Given the description of an element on the screen output the (x, y) to click on. 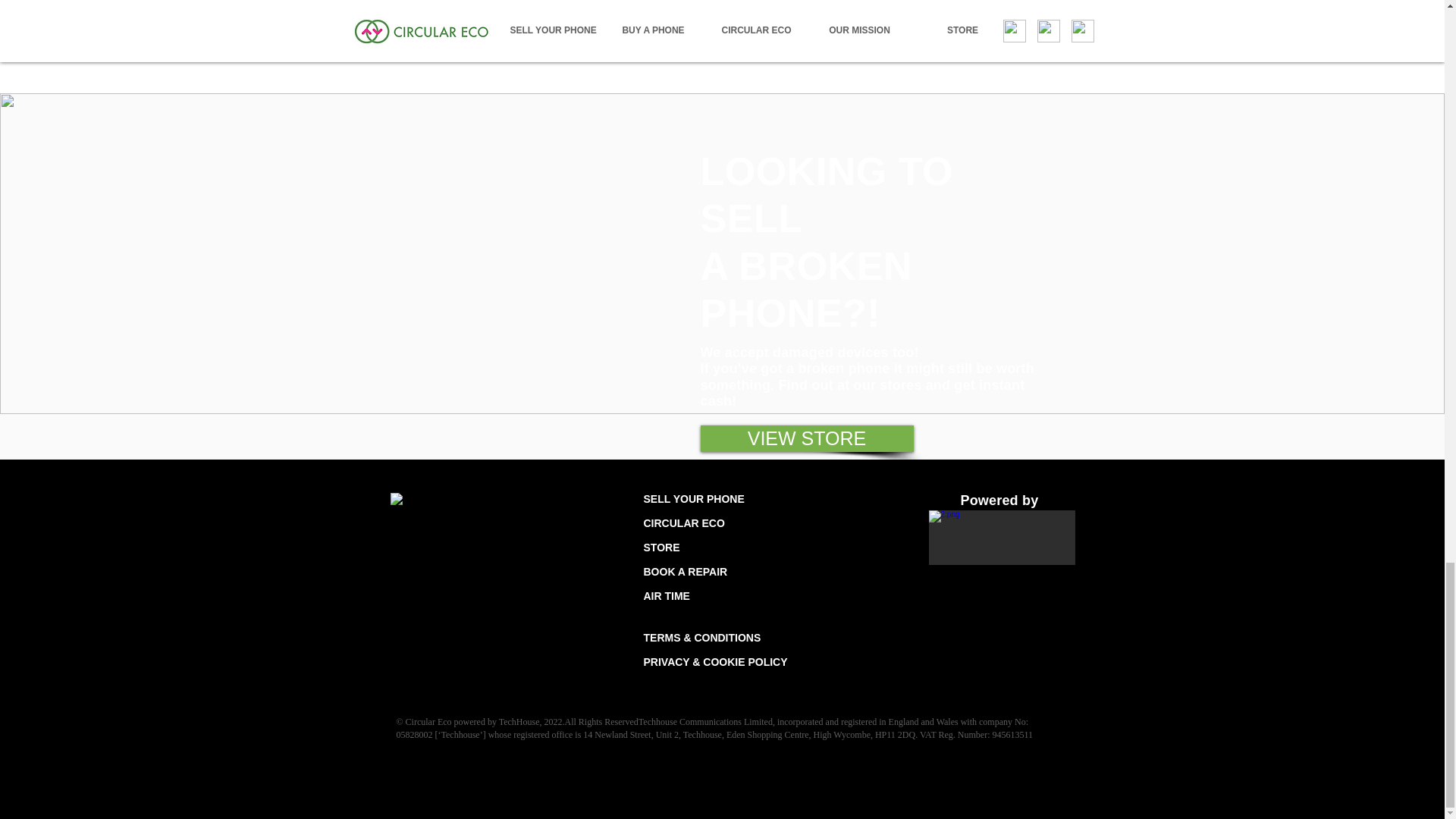
CIRCULAR ECO (683, 522)
SELL YOUR PHONE (693, 499)
LEARN MORE (509, 27)
STORE (661, 547)
BOOK A REPAIR (684, 571)
AIR TIME (665, 595)
VIEW STORE (807, 438)
